Given the description of an element on the screen output the (x, y) to click on. 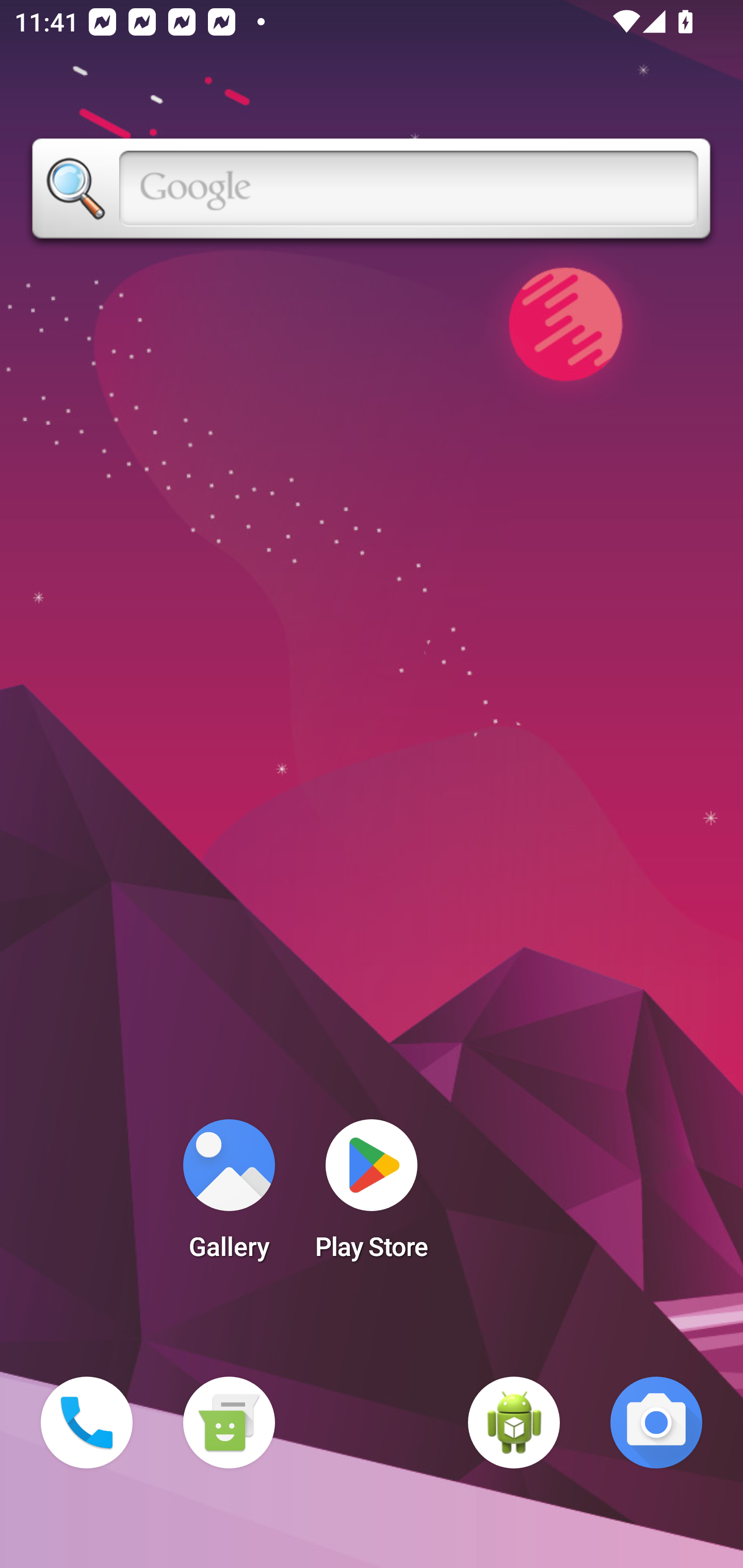
Gallery (228, 1195)
Play Store (371, 1195)
Phone (86, 1422)
Messaging (228, 1422)
WebView Browser Tester (513, 1422)
Camera (656, 1422)
